Given the description of an element on the screen output the (x, y) to click on. 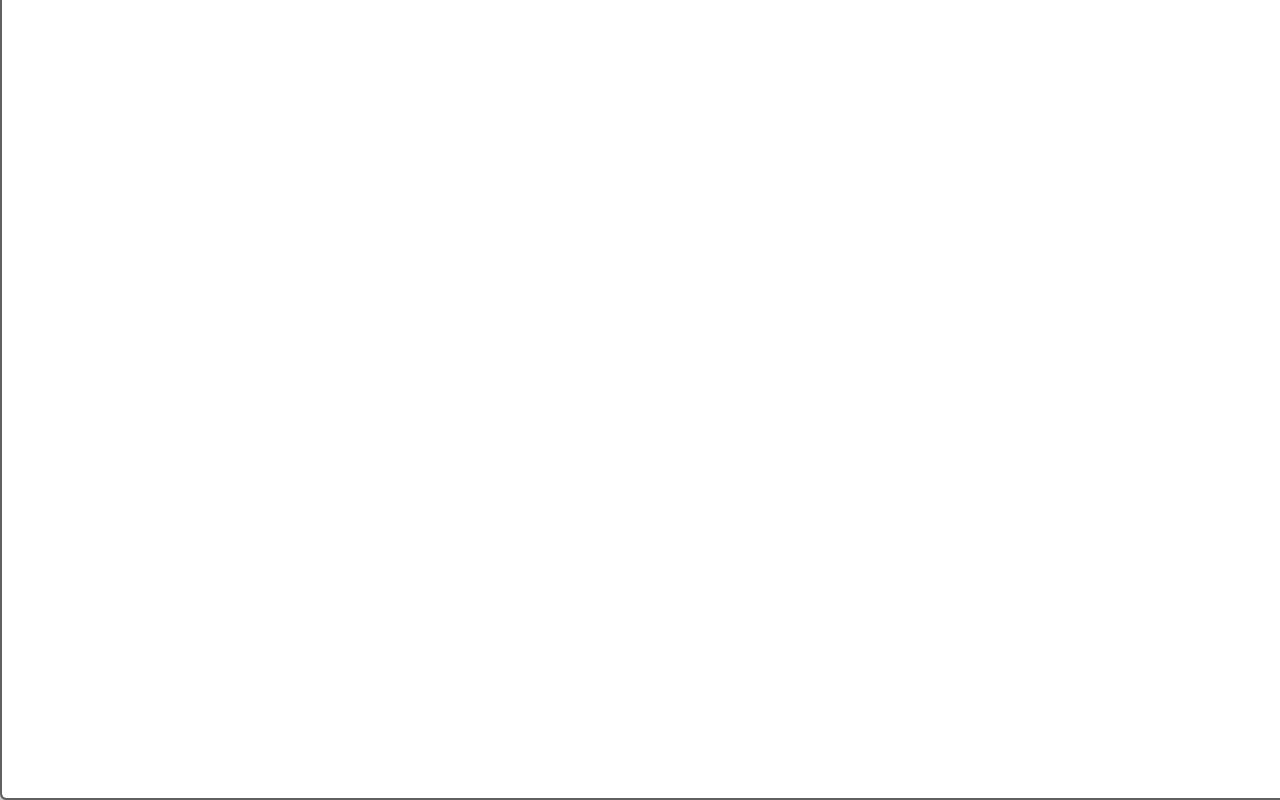
Spelling and Grammar Check Checking (234, 712)
